Given the description of an element on the screen output the (x, y) to click on. 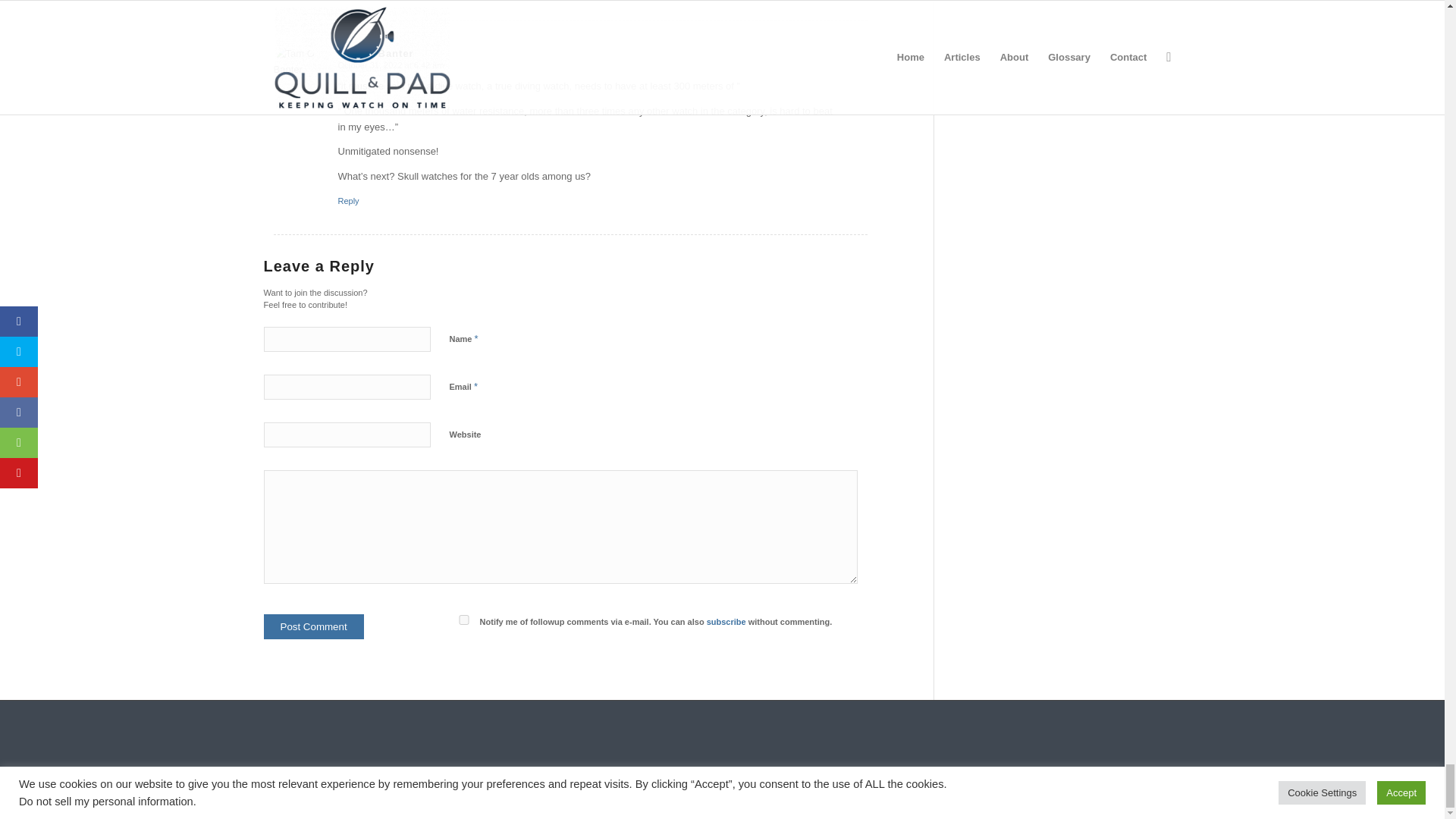
yes (462, 619)
Post Comment (313, 626)
